Given the description of an element on the screen output the (x, y) to click on. 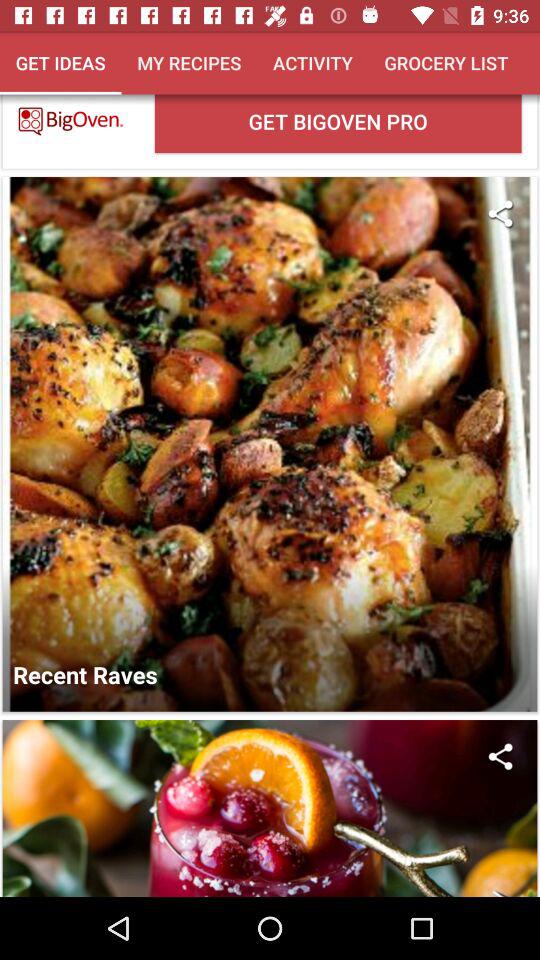
jump until the get bigoven pro item (337, 123)
